Given the description of an element on the screen output the (x, y) to click on. 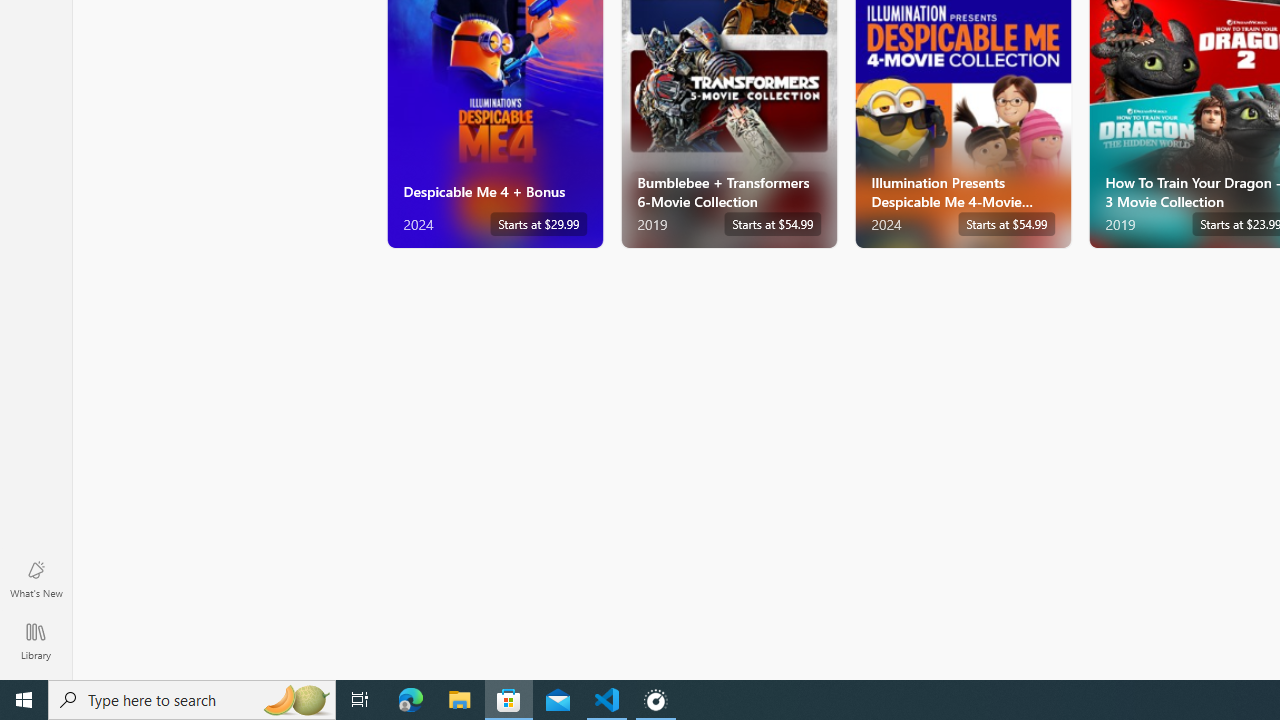
What's New (35, 578)
Library (35, 640)
